Given the description of an element on the screen output the (x, y) to click on. 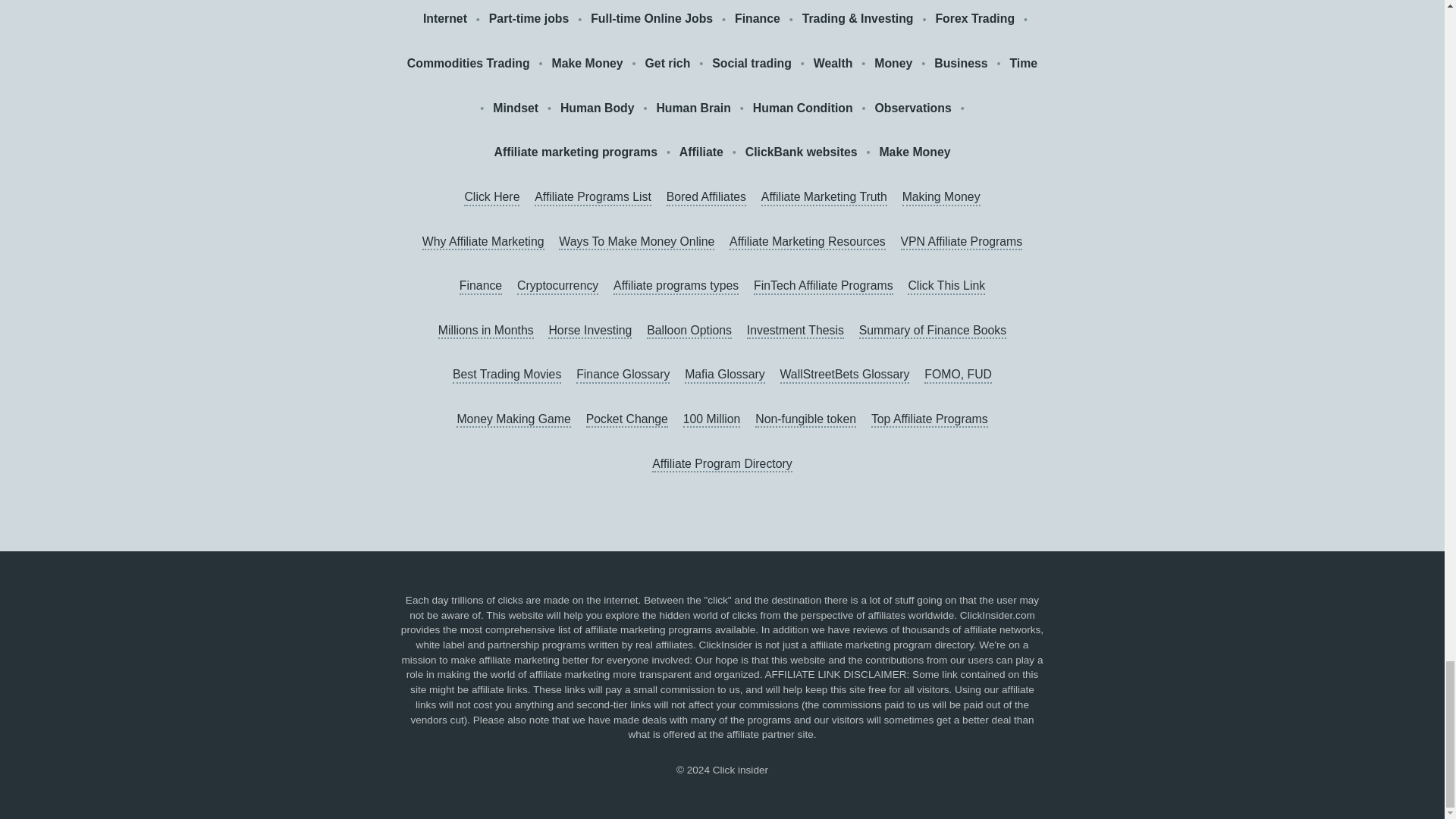
Human Body (597, 108)
Internet (445, 18)
Finance (757, 18)
Money (893, 63)
Mindset (515, 108)
Full-time Online Jobs (652, 18)
Social trading (751, 63)
Forex Trading (974, 18)
Make Money (587, 63)
Part-time jobs (529, 18)
Get rich (667, 63)
Commodities Trading (468, 63)
Wealth (833, 63)
Business (960, 63)
Time (1022, 63)
